Given the description of an element on the screen output the (x, y) to click on. 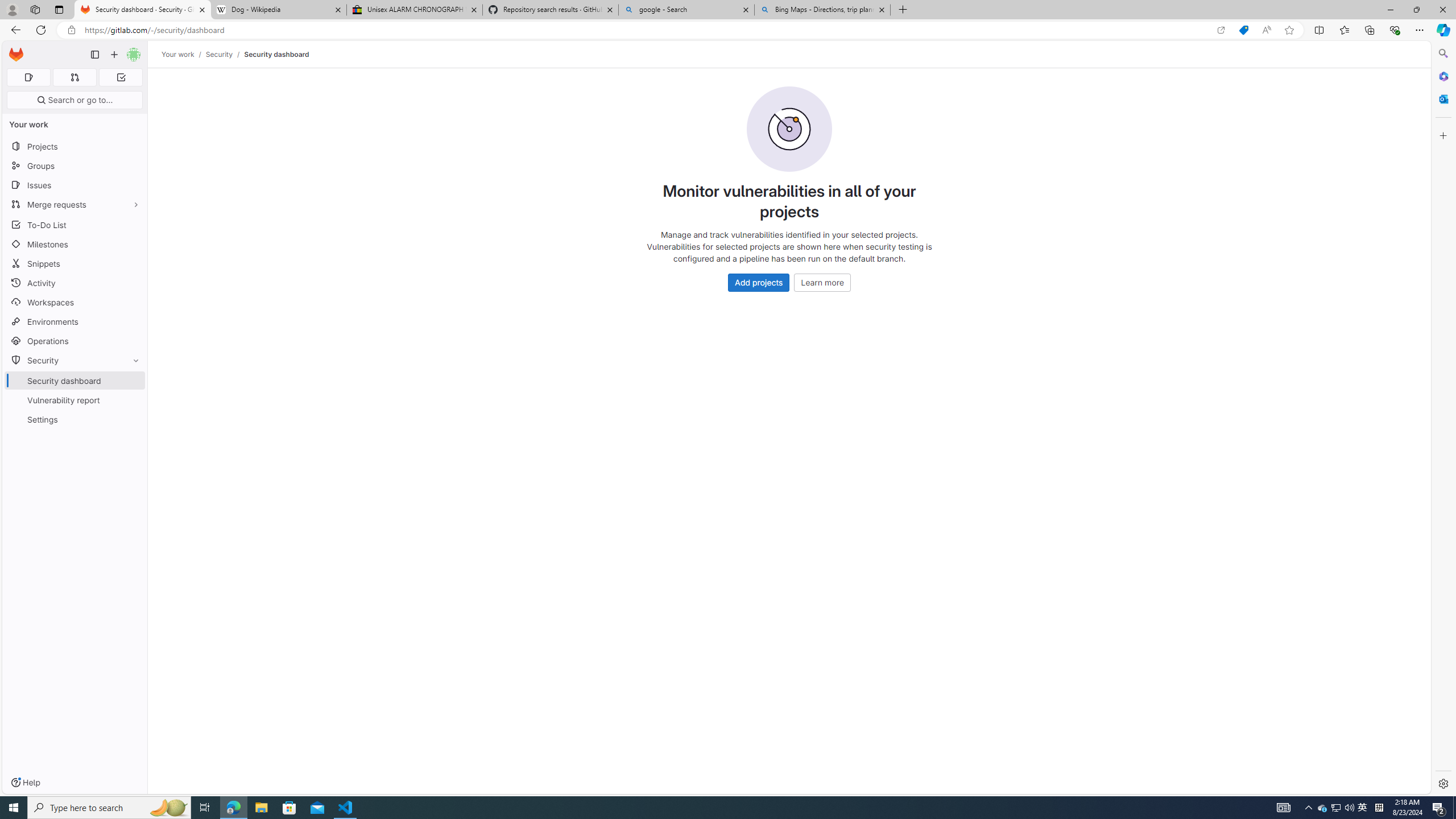
Projects (74, 145)
Merge requests (74, 203)
Groups (74, 165)
Milestones (74, 244)
Issues (74, 185)
Security dashboard (276, 53)
To-Do List (74, 224)
Vulnerability report (74, 399)
Projects (74, 145)
Merge requests (74, 203)
Snippets (74, 262)
